Given the description of an element on the screen output the (x, y) to click on. 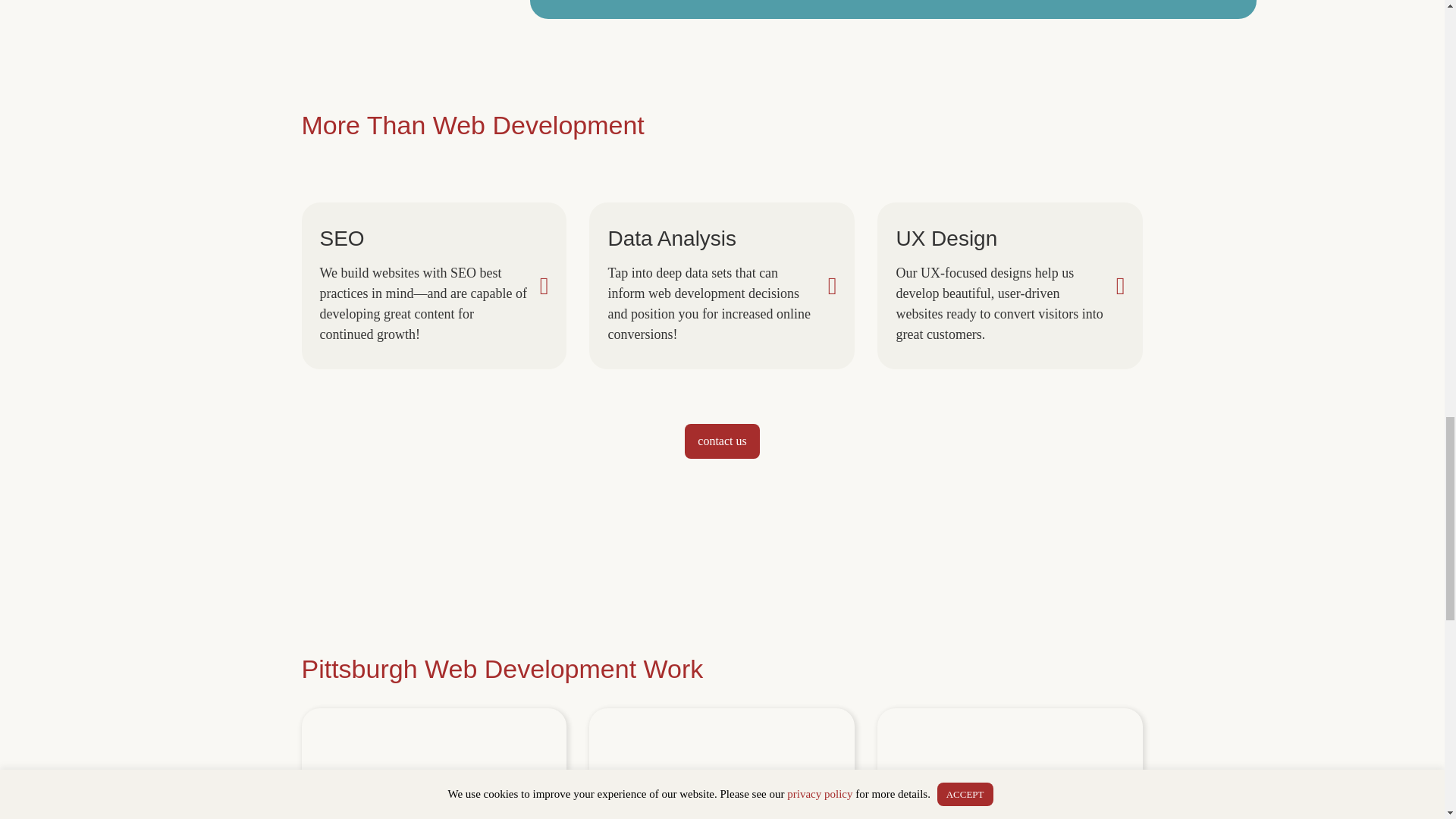
Contact (721, 441)
contact us (721, 441)
Pittsburgh Web Development Work (502, 668)
